Given the description of an element on the screen output the (x, y) to click on. 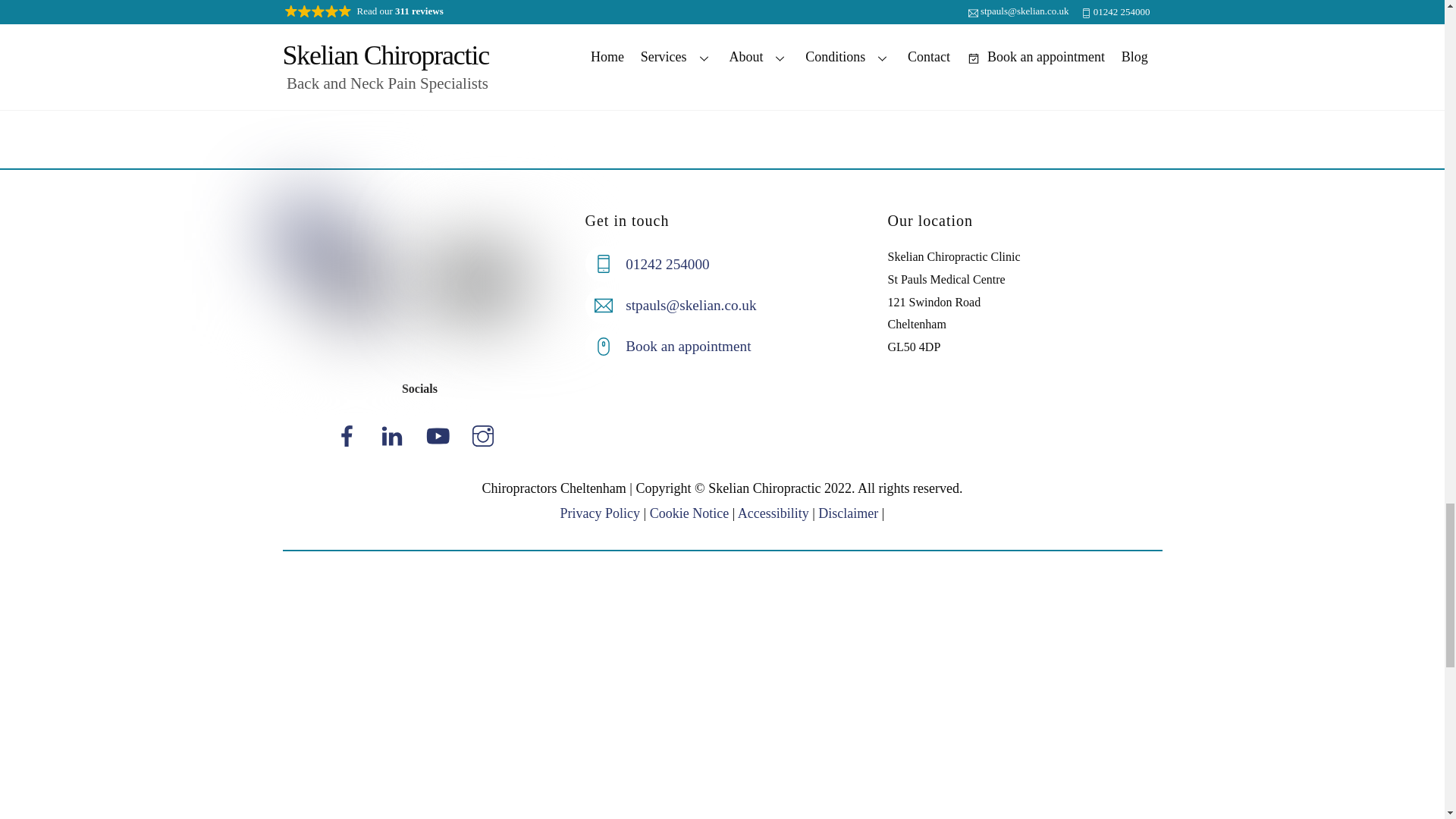
ppqmlogo-2022-2024-2000 (497, 271)
Skelian-Chiropractic-Clinic-Logo-Small (355, 284)
